Given the description of an element on the screen output the (x, y) to click on. 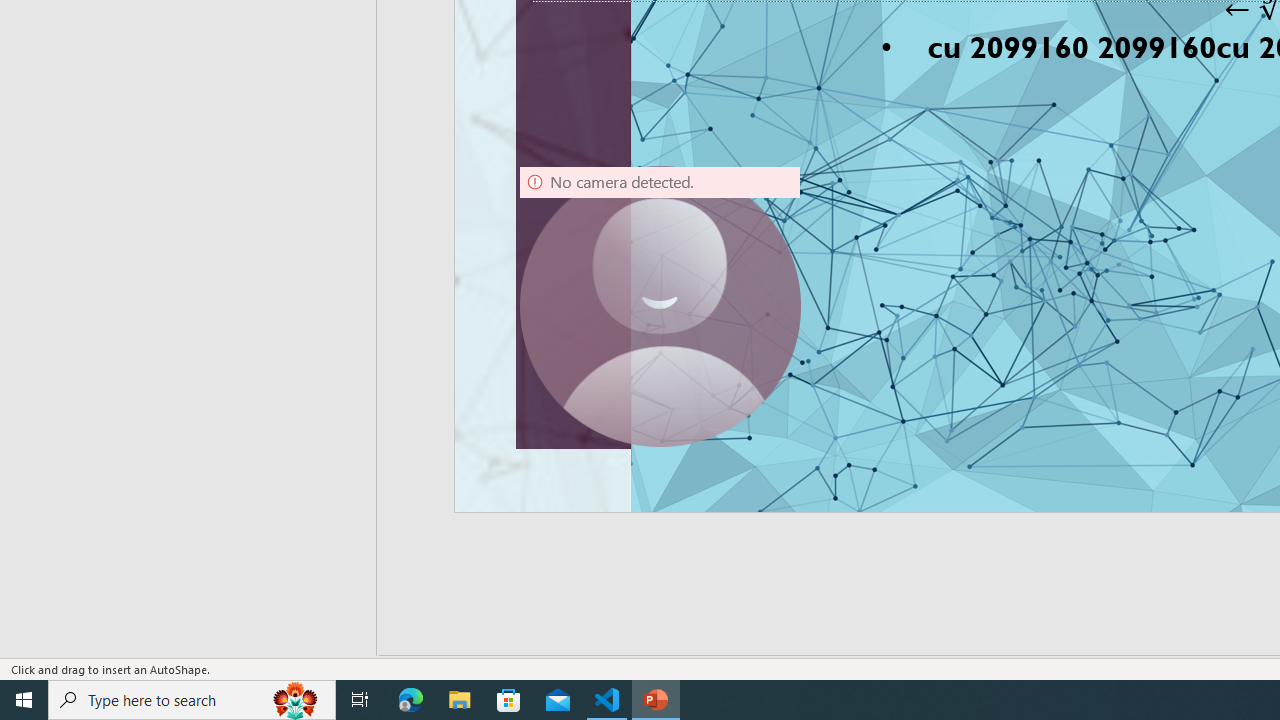
Outline Section (331, 362)
Ports - 26 forwarded ports (1165, 218)
Problems (Ctrl+Shift+M) (567, 218)
remote (122, 628)
Debug Console (Ctrl+Shift+Y) (854, 218)
Output (Ctrl+Shift+U) (696, 218)
Timeline Section (331, 398)
Terminal (Ctrl+`) (1021, 218)
No Problems (212, 628)
